Given the description of an element on the screen output the (x, y) to click on. 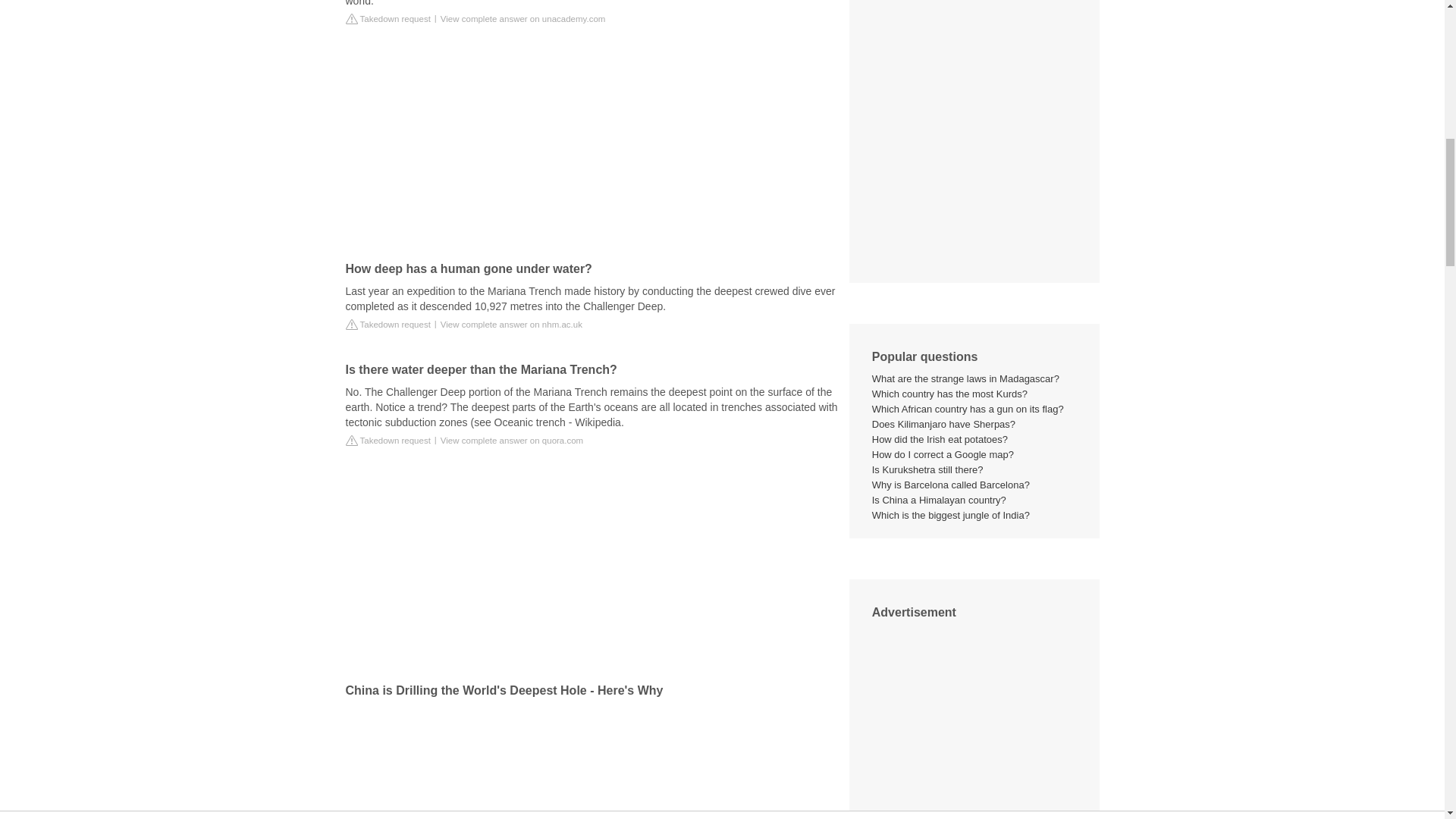
China is Drilling the World's Deepest Hole - Here's Why (592, 761)
